Given the description of an element on the screen output the (x, y) to click on. 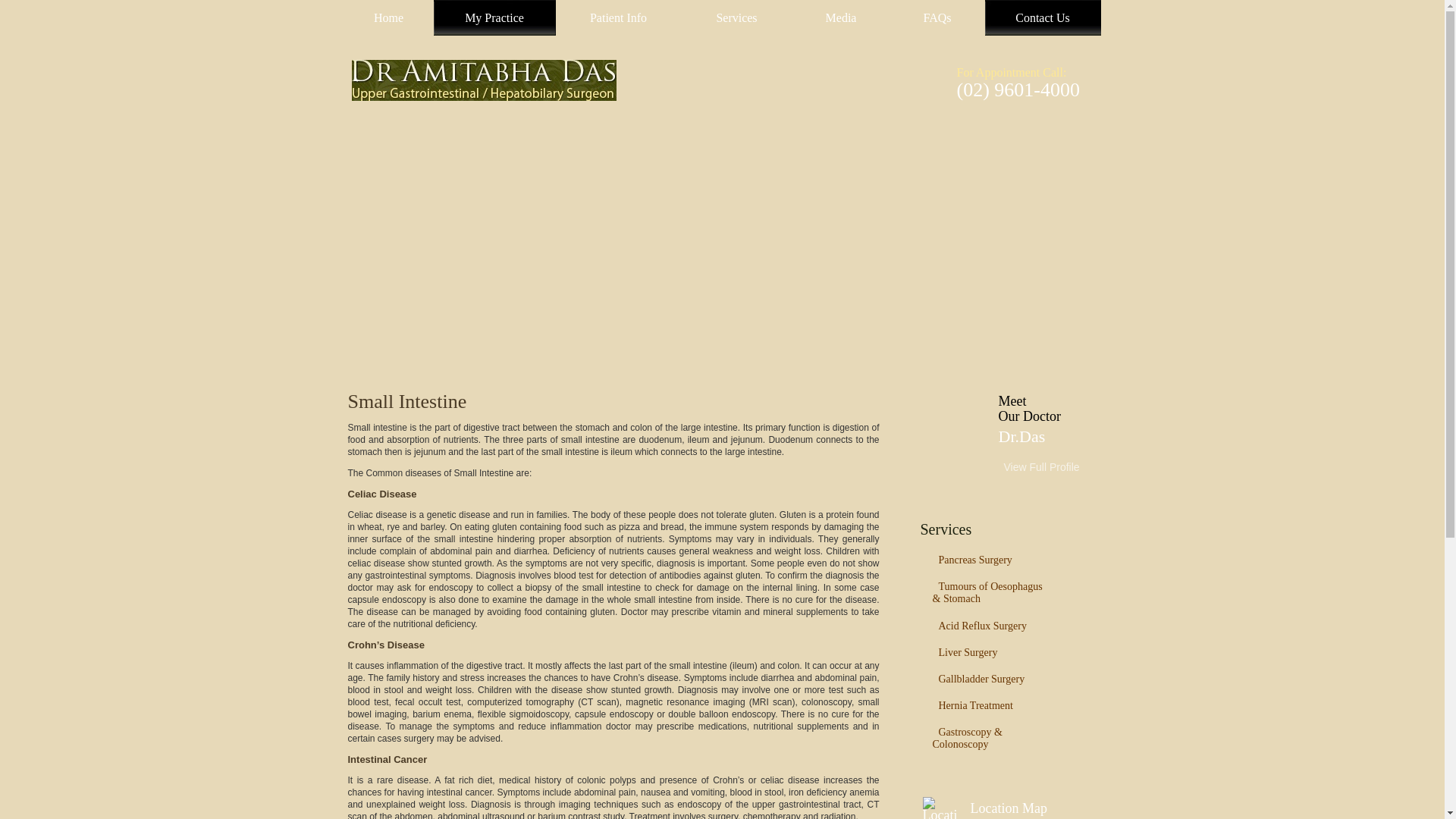
FAQs (937, 18)
Patient Info (617, 18)
My Practice (494, 18)
Home (388, 18)
Contact Us (1042, 18)
Media (840, 18)
Services (736, 18)
